Given the description of an element on the screen output the (x, y) to click on. 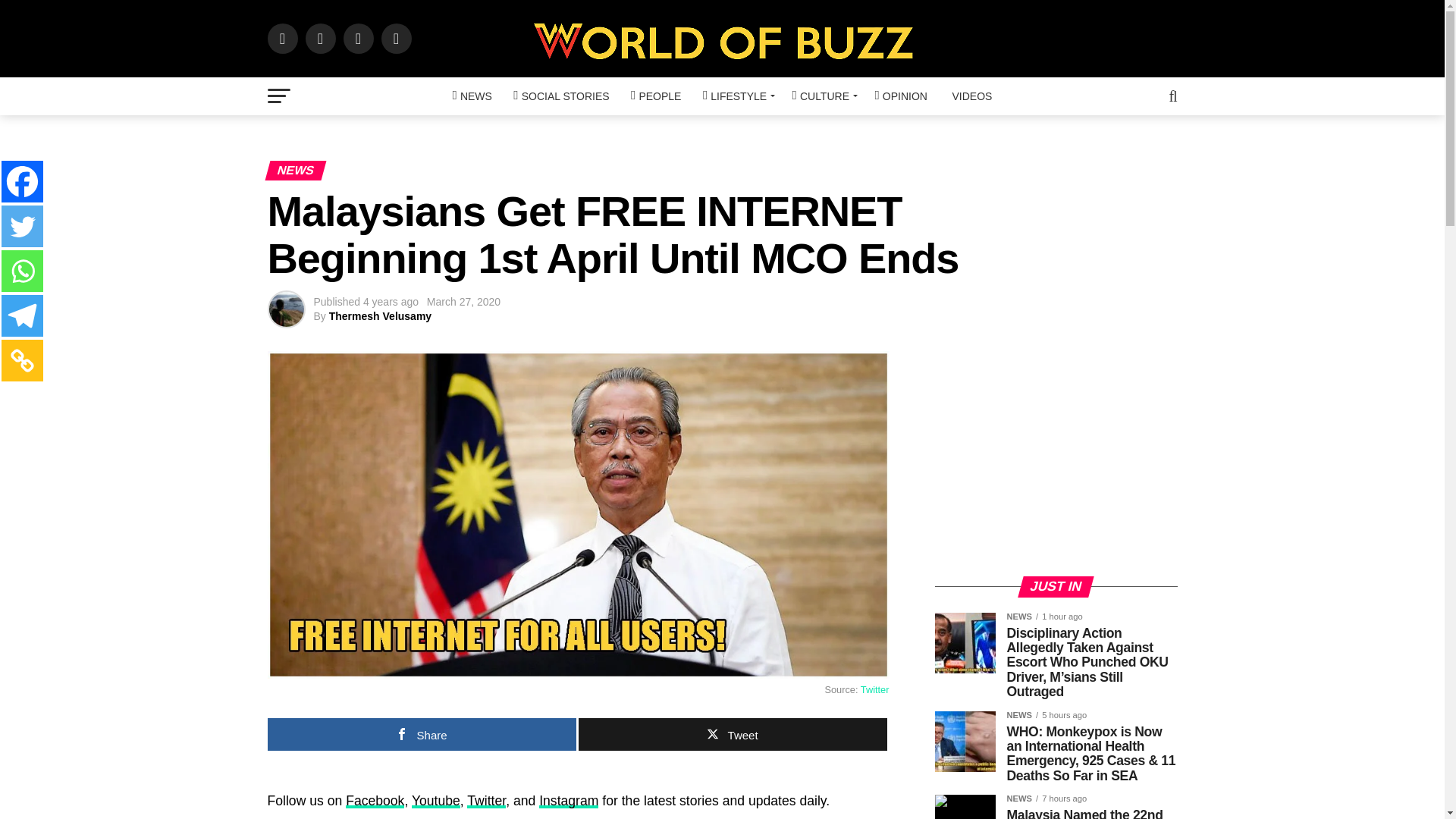
NEWS (472, 95)
Telegram (22, 315)
Whatsapp (22, 270)
Twitter (22, 226)
SOCIAL STORIES (560, 95)
Copy Link (22, 360)
Facebook (22, 181)
